Given the description of an element on the screen output the (x, y) to click on. 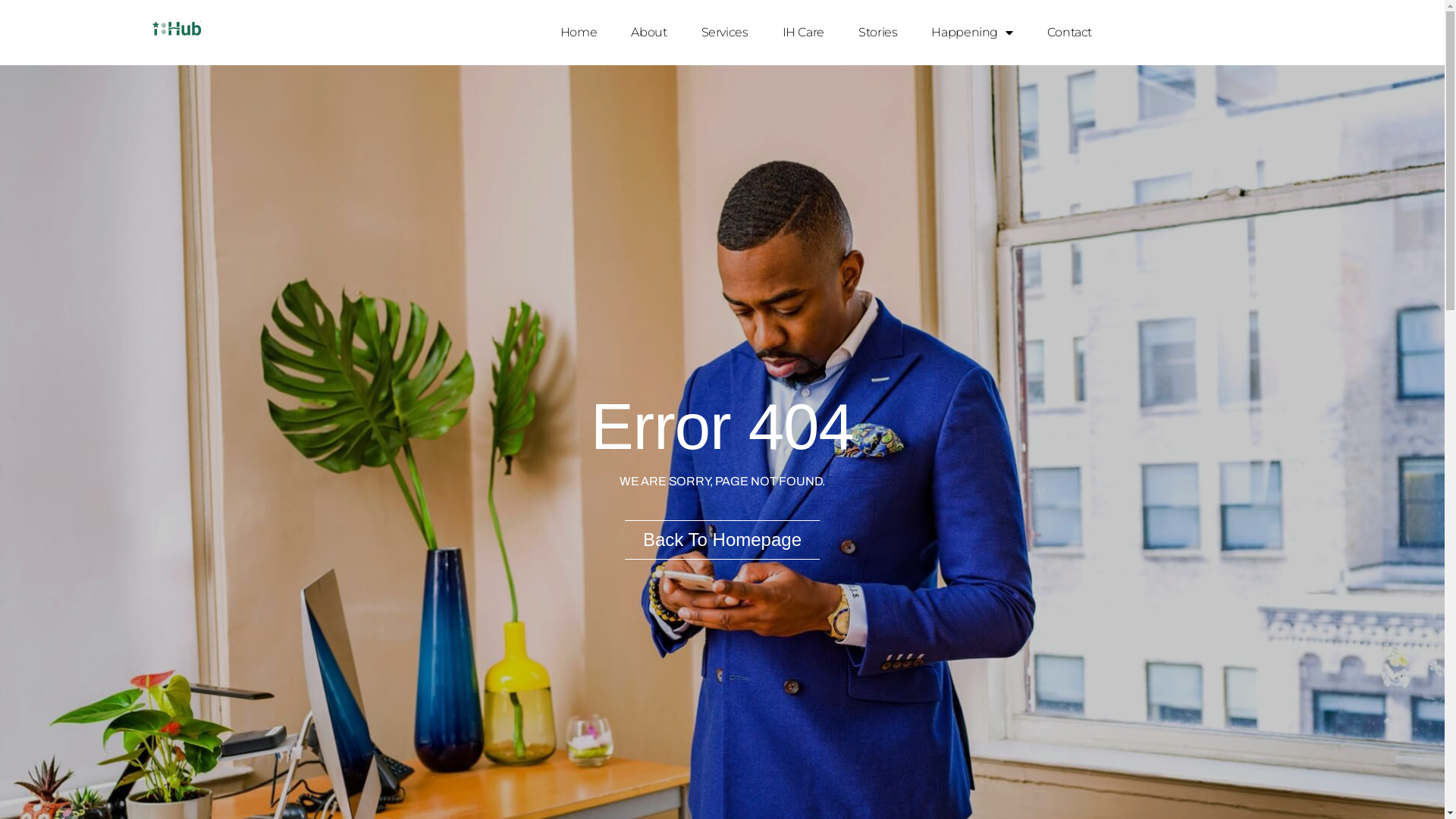
Stories Element type: text (877, 32)
IH Care Element type: text (803, 32)
Happening Element type: text (971, 32)
Services Element type: text (724, 32)
Contact Element type: text (1069, 32)
Home Element type: text (578, 32)
About Element type: text (648, 32)
Back To Homepage Element type: text (721, 539)
